Given the description of an element on the screen output the (x, y) to click on. 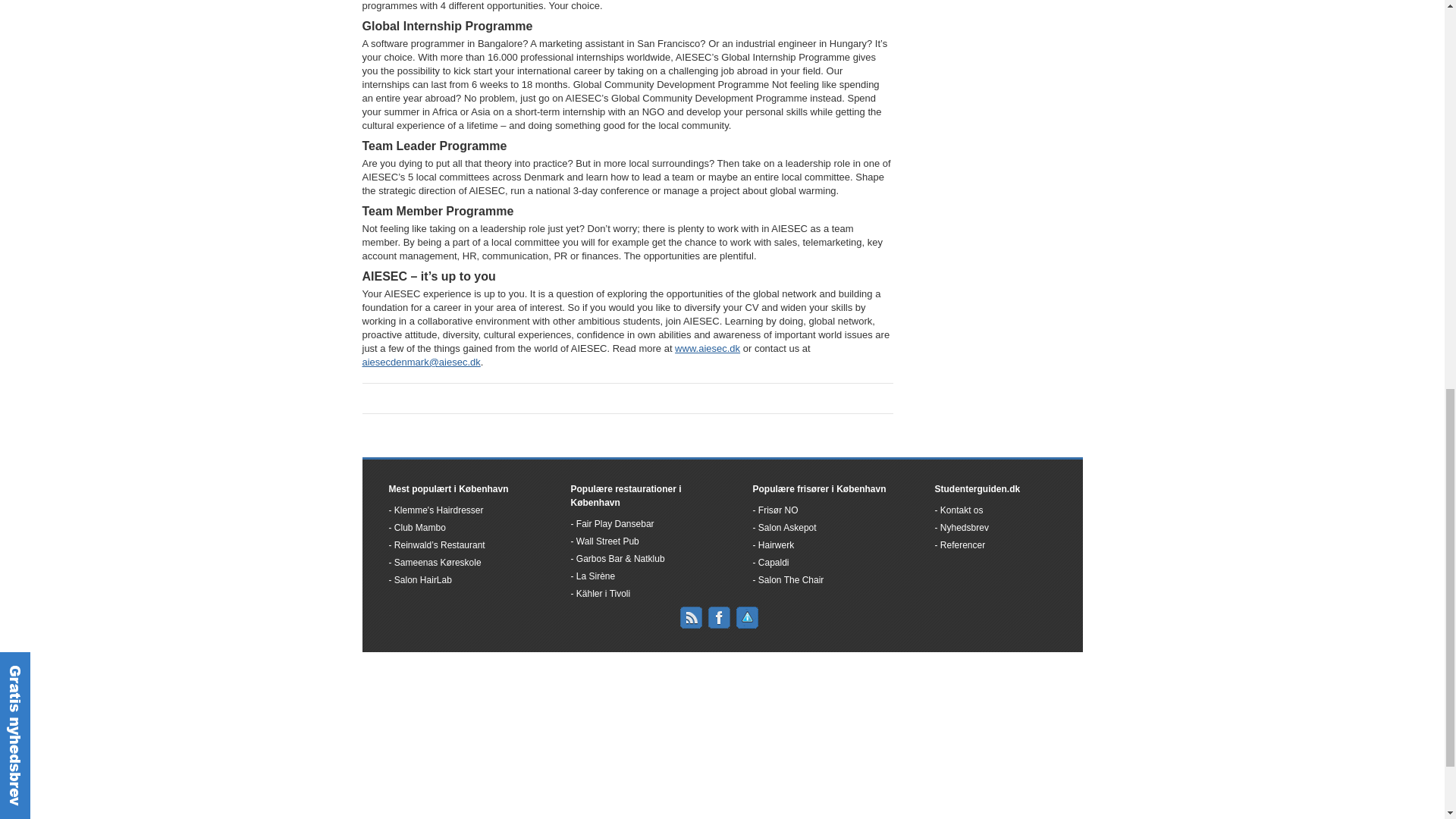
Send en mail til AIESEC Denmark her (421, 361)
label-learn-more-footerWall Street Pub label-her (604, 541)
label-learn-more-footerFair Play Dansebar label-her (611, 523)
